Given the description of an element on the screen output the (x, y) to click on. 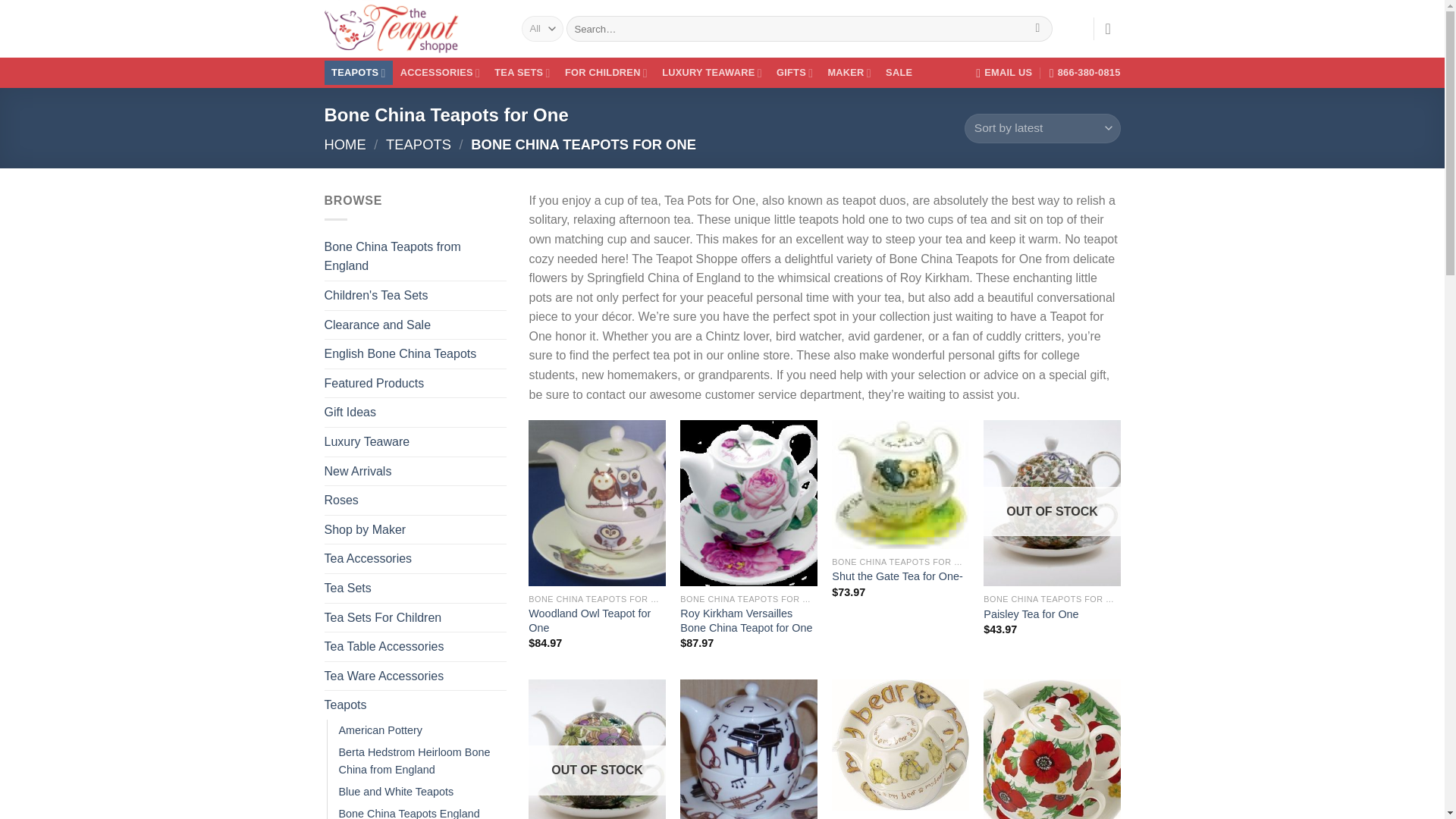
TEA SETS (522, 72)
866-380-0815 (1085, 72)
Search (1037, 28)
TEAPOTS (358, 72)
ACCESSORIES (439, 72)
